Given the description of an element on the screen output the (x, y) to click on. 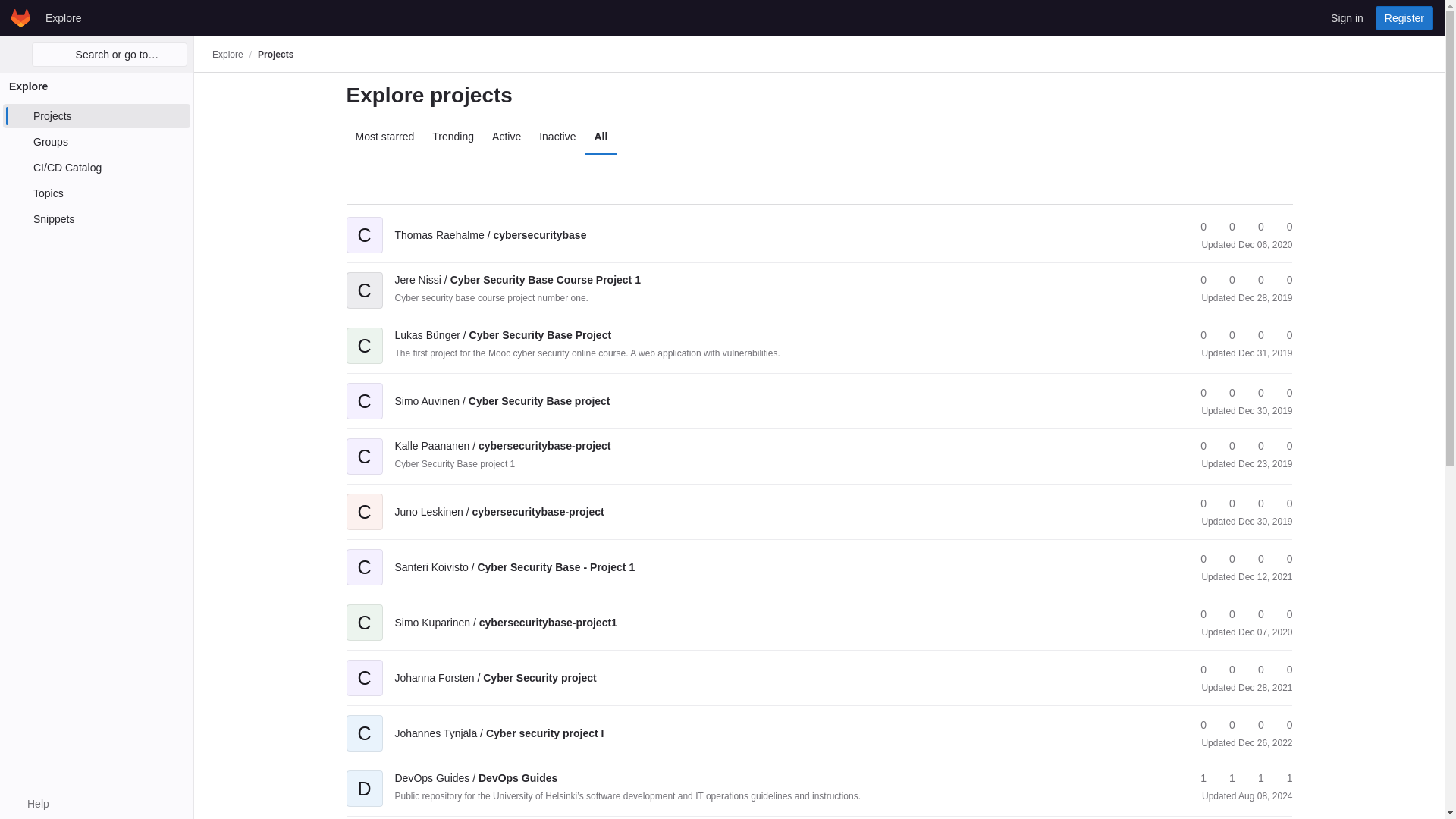
Forks (1224, 227)
Topics (96, 192)
Issues (1282, 279)
Stars (1196, 279)
Merge requests (1253, 279)
Homepage (20, 17)
C (363, 224)
0 (1196, 227)
Snippets (96, 218)
Active (506, 135)
